Given the description of an element on the screen output the (x, y) to click on. 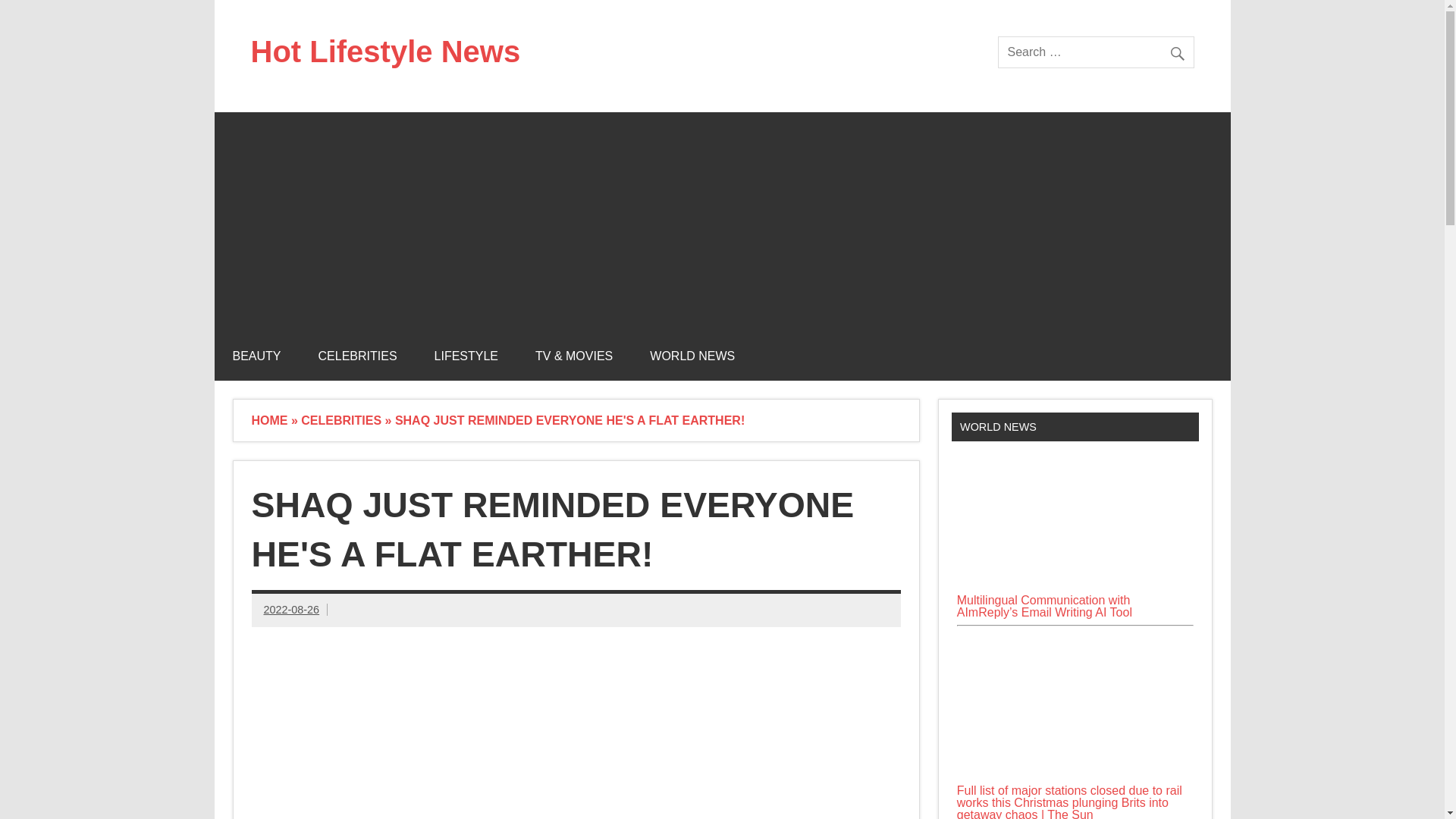
CELEBRITIES (341, 420)
WORLD NEWS (691, 356)
LIFESTYLE (466, 356)
2022-08-26 (291, 609)
HOME (269, 420)
BEAUTY (256, 356)
CELEBRITIES (356, 356)
6:53 PM (291, 609)
Hot Lifestyle News (384, 51)
